Given the description of an element on the screen output the (x, y) to click on. 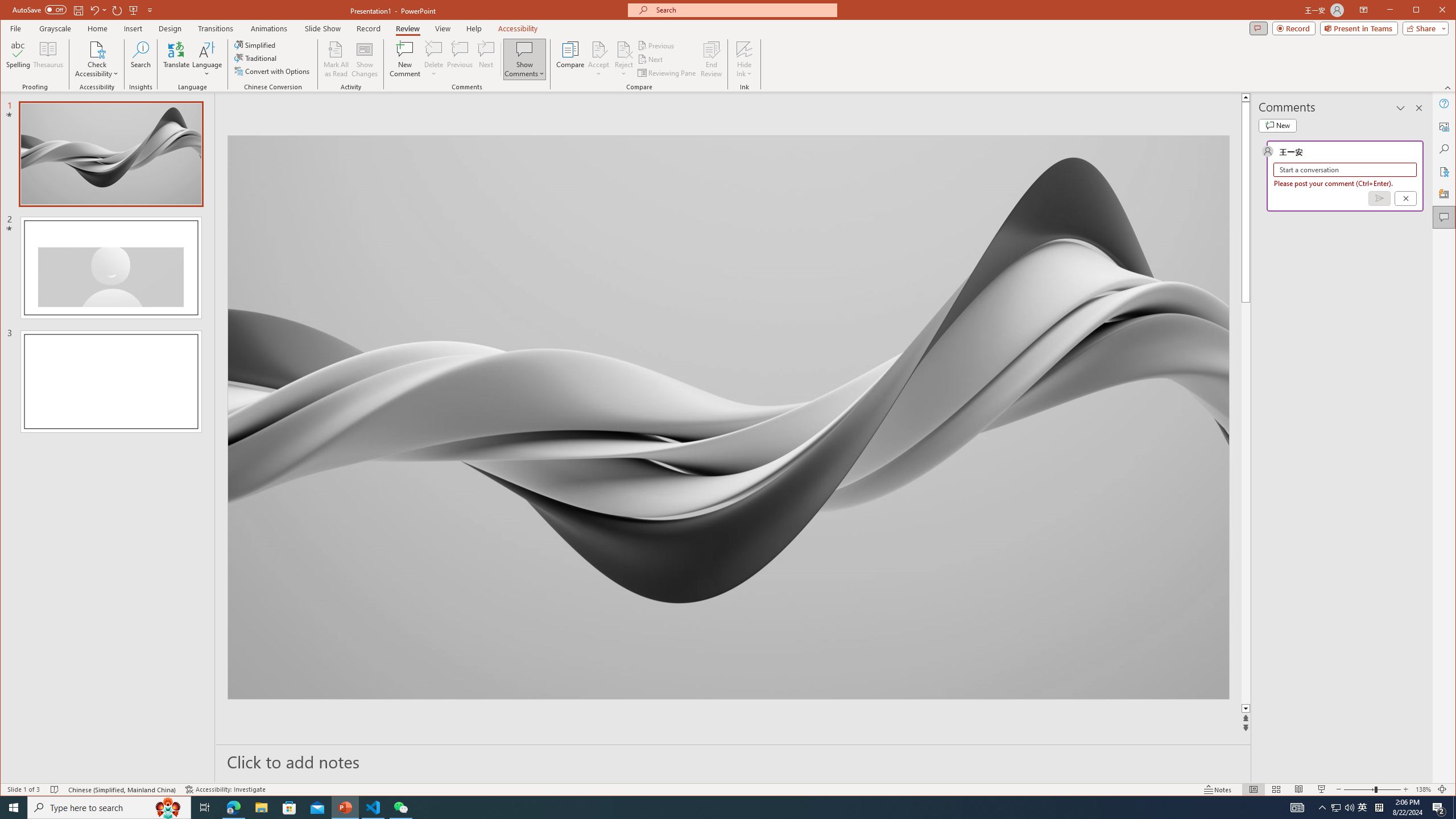
Zoom 138% (1422, 789)
Thesaurus... (48, 59)
Next (651, 59)
Accept (598, 59)
